Given the description of an element on the screen output the (x, y) to click on. 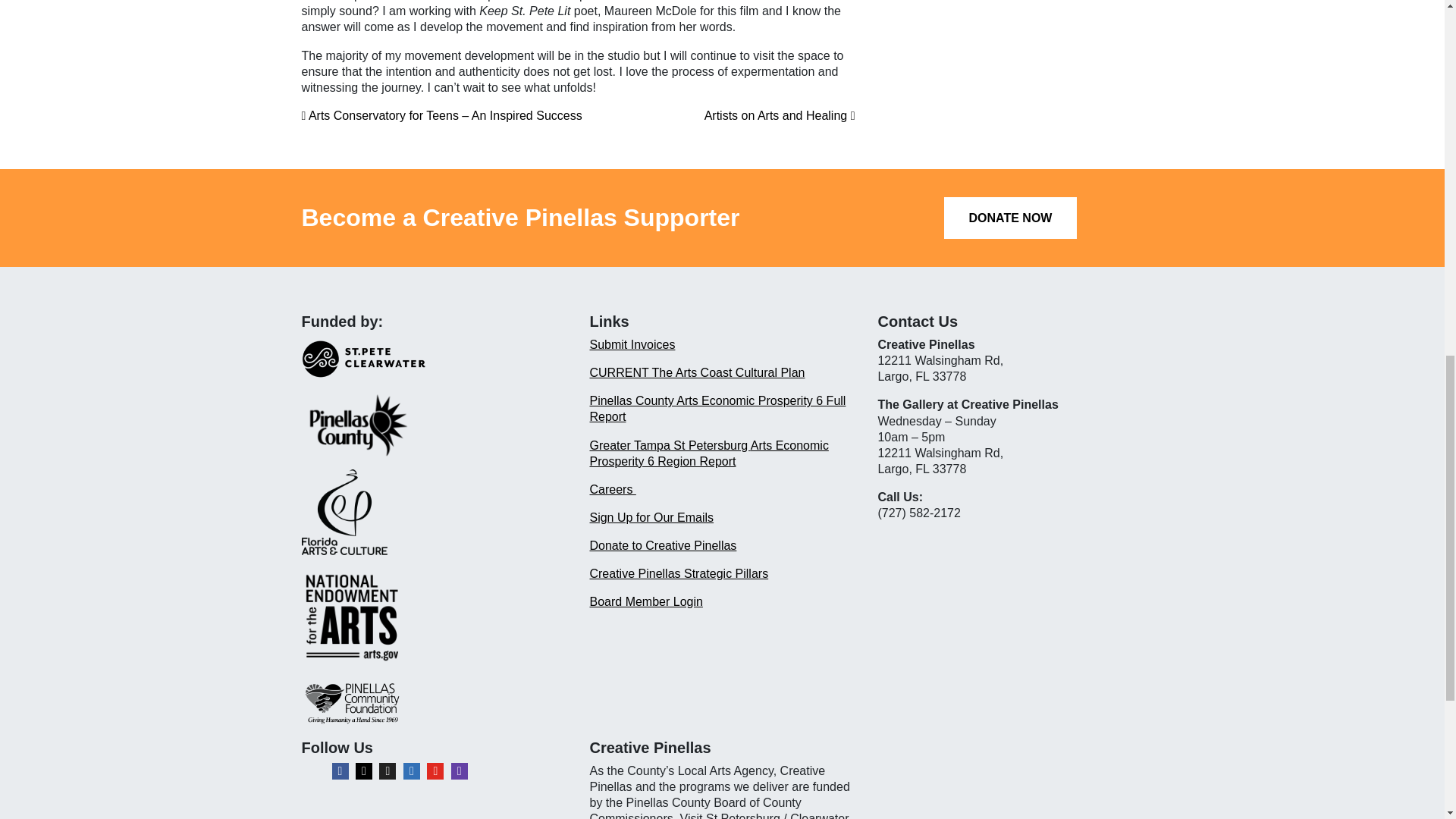
linkedin (411, 770)
facebook (340, 770)
Careers  (611, 489)
Creative Pinellas Strategic Pillars (678, 573)
instagram (363, 770)
Submit Invoices (632, 344)
twitter (387, 770)
Arts Economic Prosperity 6 Region Report (708, 452)
Instagram (363, 770)
Pinellas County Arts Economic Prosperity 6 Full Report (717, 408)
Linkedin (411, 770)
Facebook (340, 770)
Board Member Login (645, 601)
Artists on Arts and Healing  (780, 115)
Donate to Creative Pinellas (662, 545)
